Given the description of an element on the screen output the (x, y) to click on. 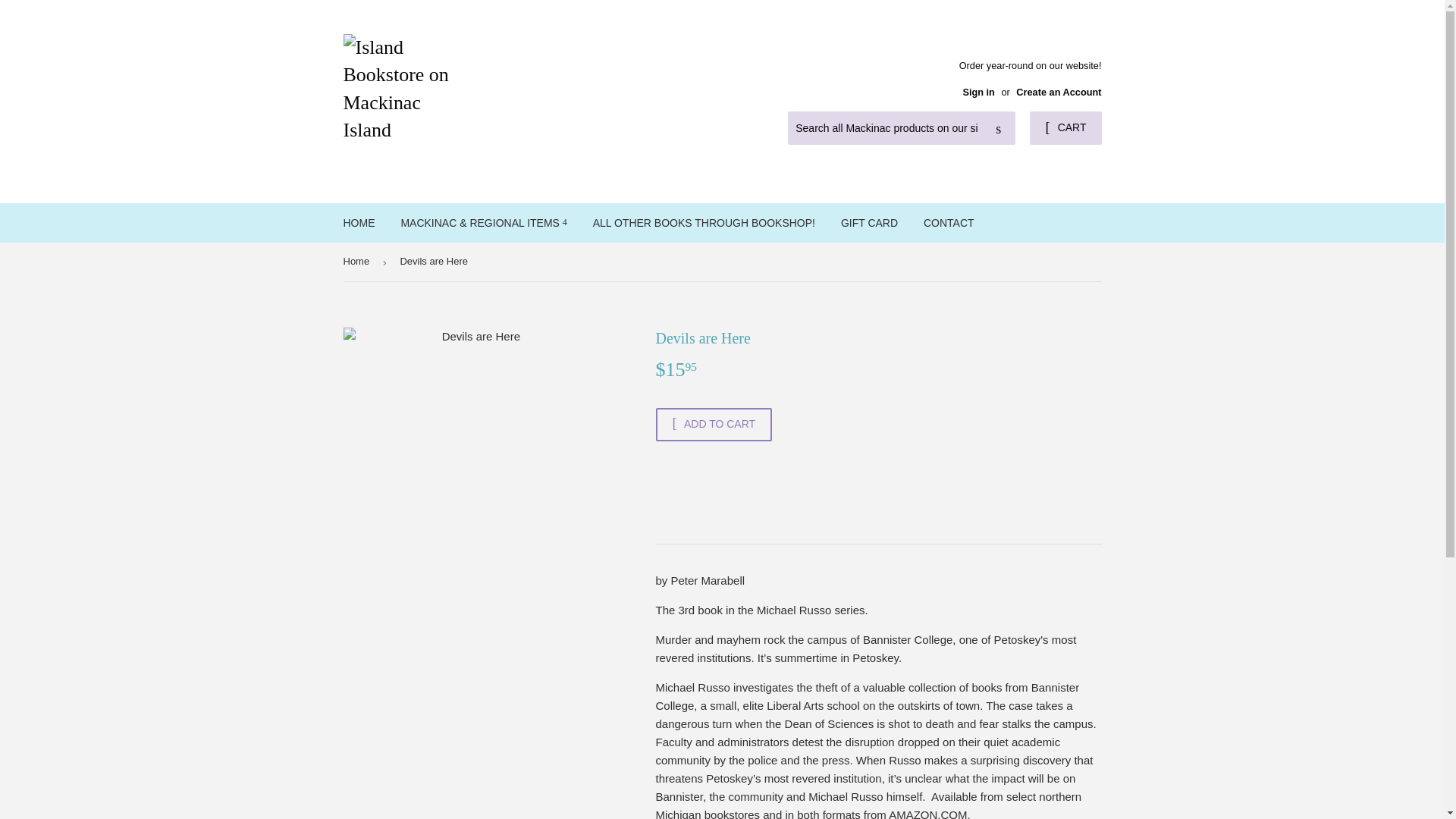
HOME (359, 222)
CART (1064, 127)
Search (997, 128)
Sign in (978, 91)
Create an Account (1058, 91)
